Given the description of an element on the screen output the (x, y) to click on. 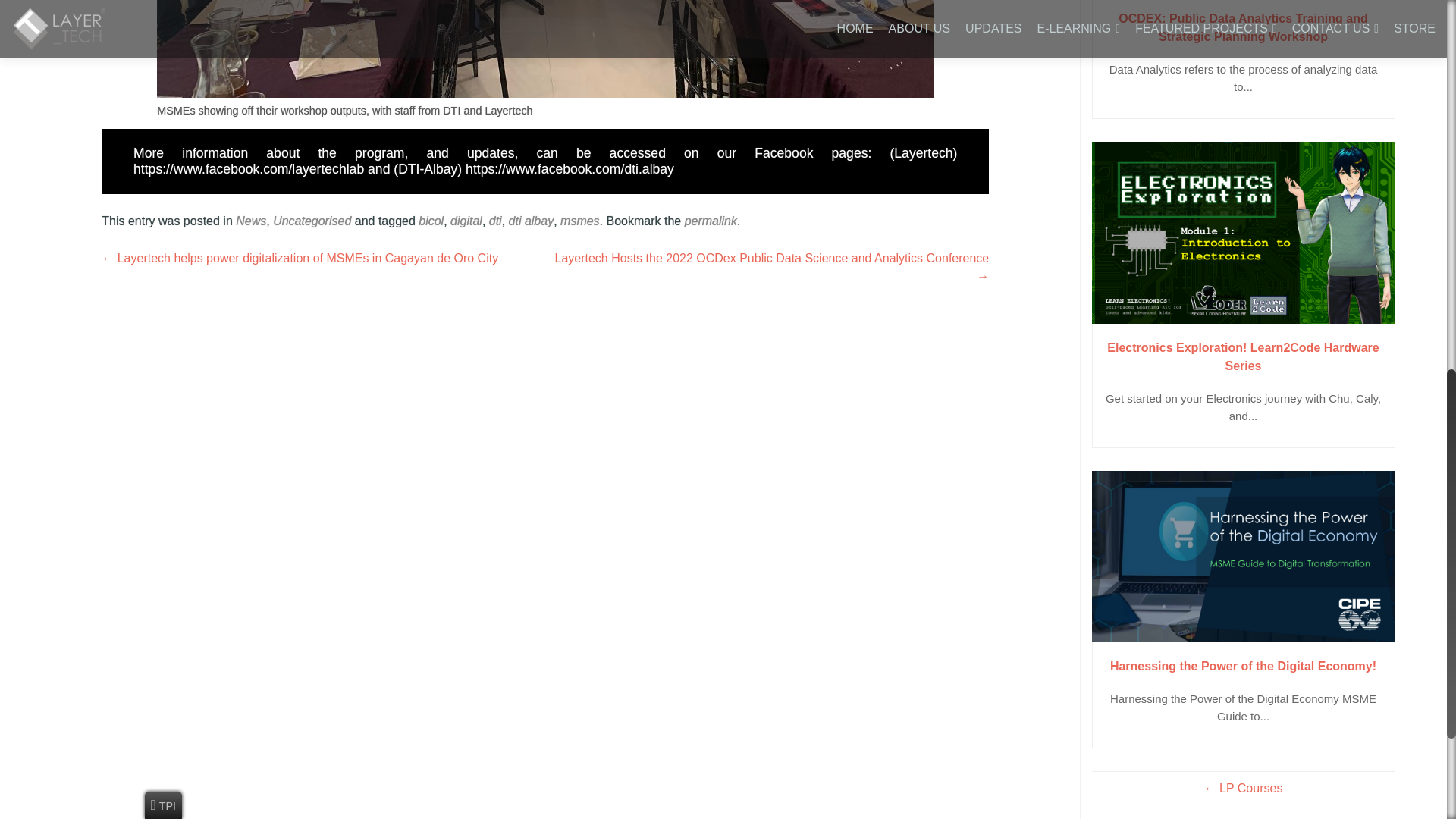
bicol (431, 220)
Harnessing the Power of the Digital Economy! (1243, 556)
permalink (710, 220)
Uncategorised (311, 220)
digital (465, 220)
dti albay (531, 220)
News (250, 220)
Electronics Exploration! Learn2Code Hardware Series (1243, 232)
Electronics Exploration! Learn2Code Hardware Series (1243, 357)
msmes (579, 220)
dti (495, 220)
